Given the description of an element on the screen output the (x, y) to click on. 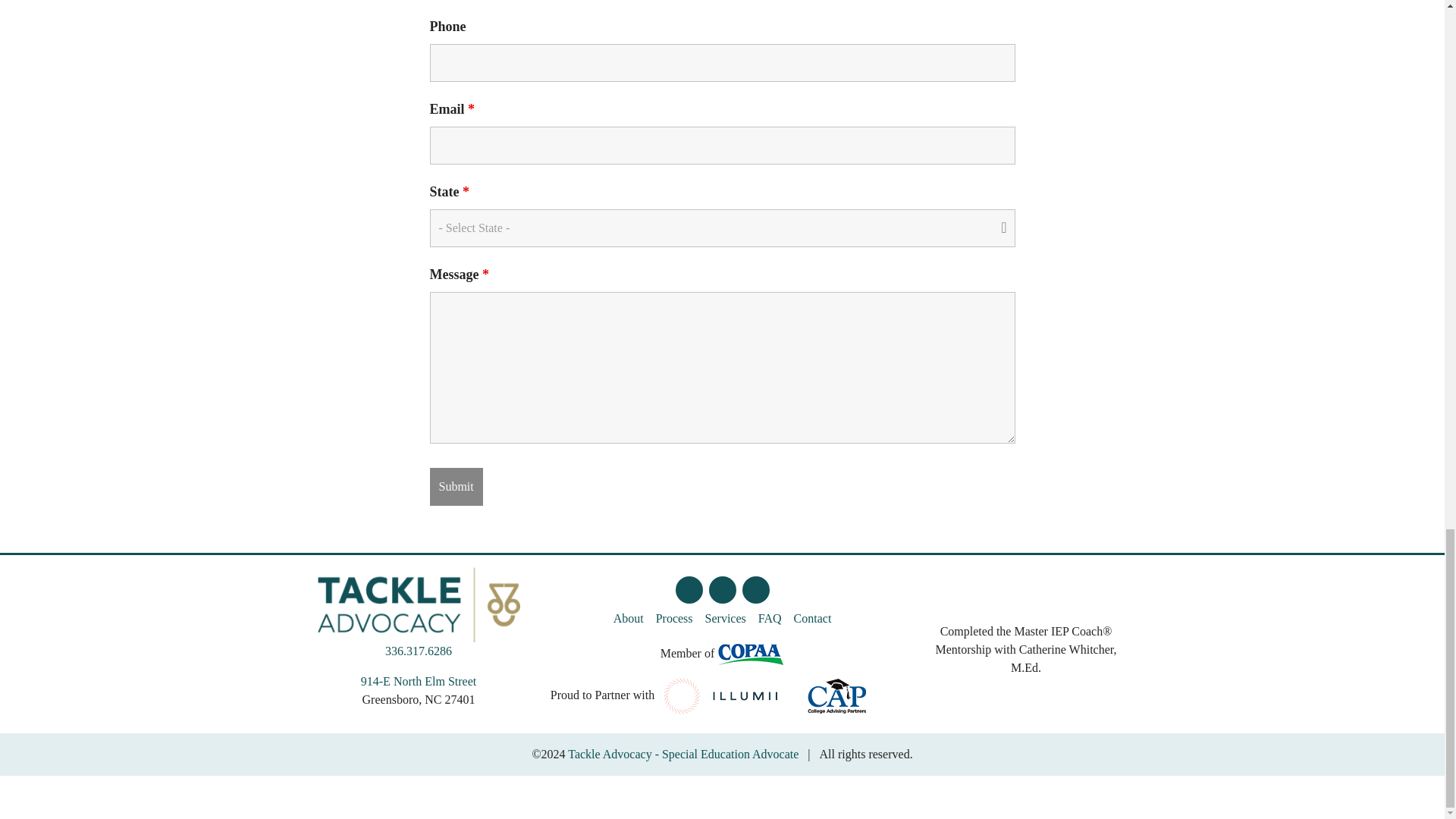
Process (673, 618)
About (628, 618)
Submit (455, 486)
336.317.6286 (418, 650)
FAQ (769, 618)
Submit (455, 486)
914-E North Elm Street (418, 680)
Services (725, 618)
Contact (812, 618)
